Given the description of an element on the screen output the (x, y) to click on. 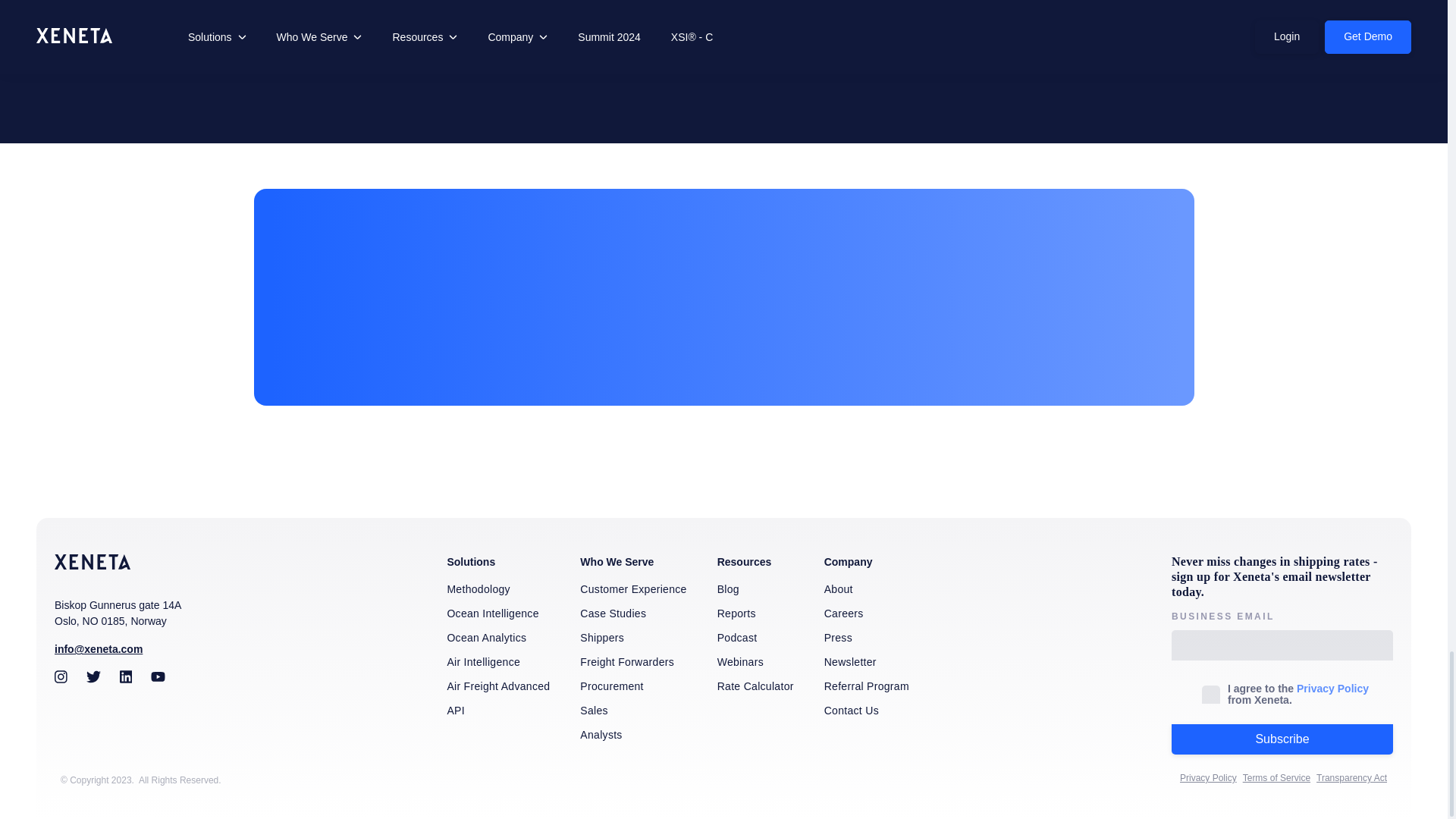
true (1211, 694)
Subscribe (1282, 738)
